Given the description of an element on the screen output the (x, y) to click on. 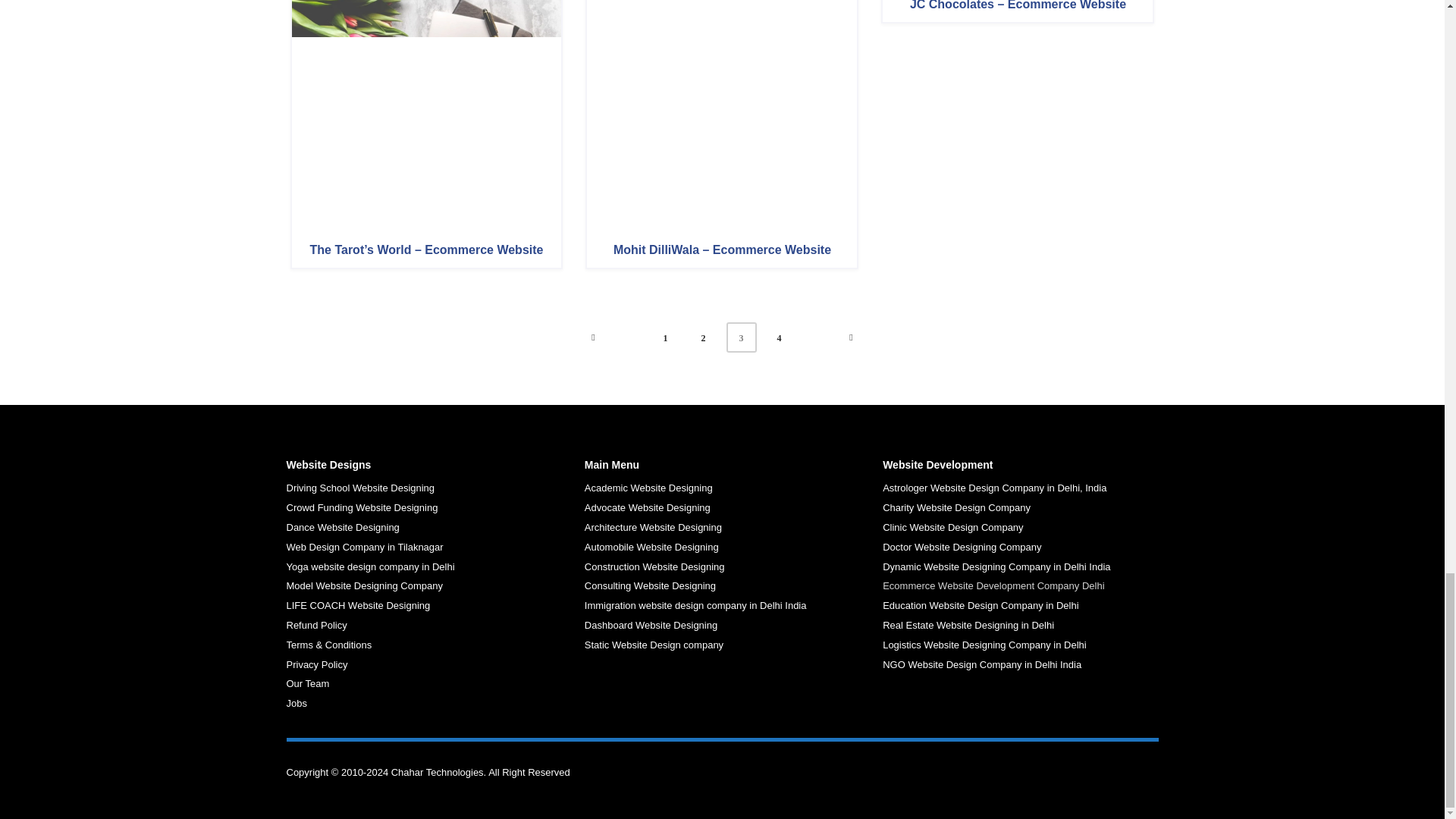
2 (703, 337)
"The (425, 112)
4 (779, 337)
"Mohit (721, 112)
1 (665, 337)
